Given the description of an element on the screen output the (x, y) to click on. 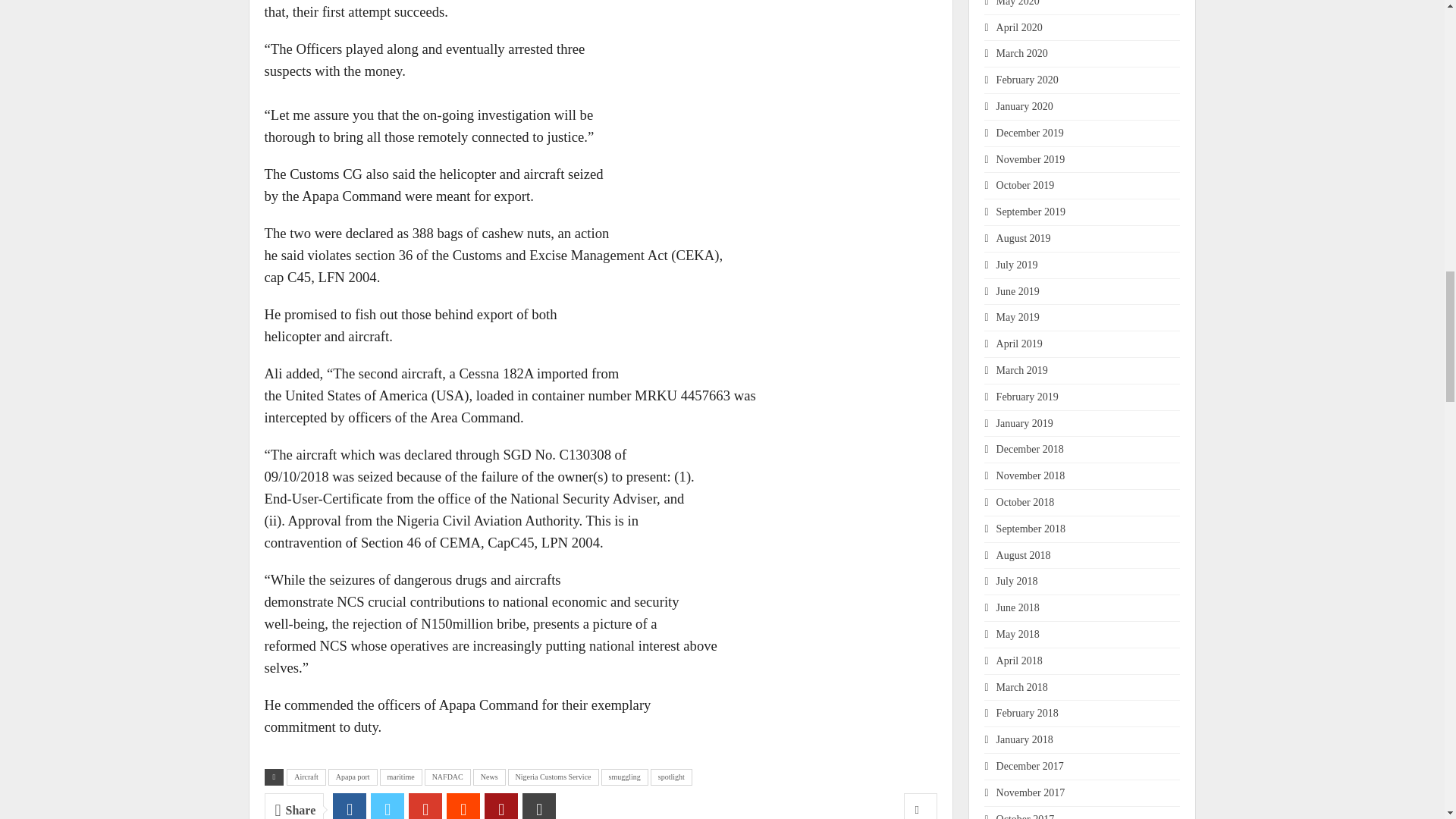
News (489, 777)
Aircraft (306, 777)
Apapa port (353, 777)
NAFDAC (447, 777)
maritime (401, 777)
